Given the description of an element on the screen output the (x, y) to click on. 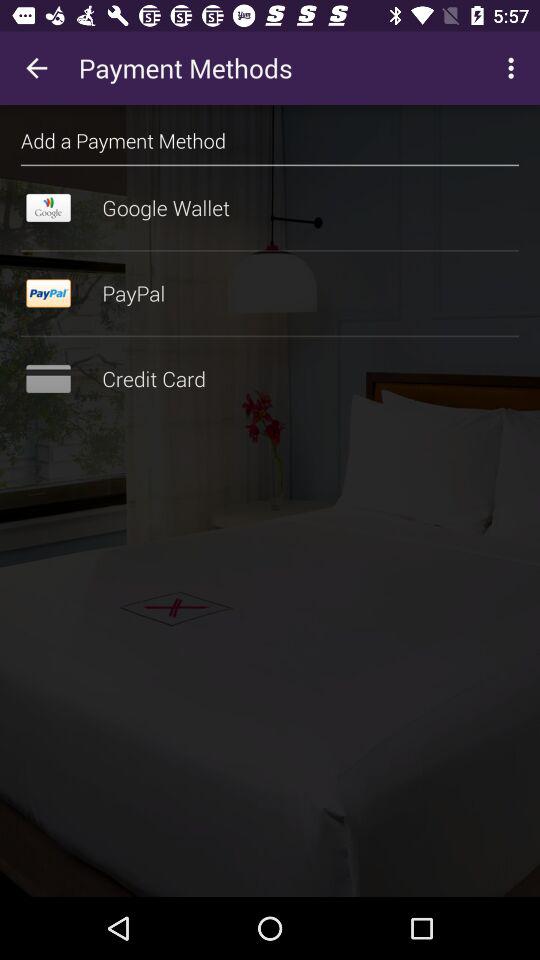
open item above paypal (270, 250)
